Given the description of an element on the screen output the (x, y) to click on. 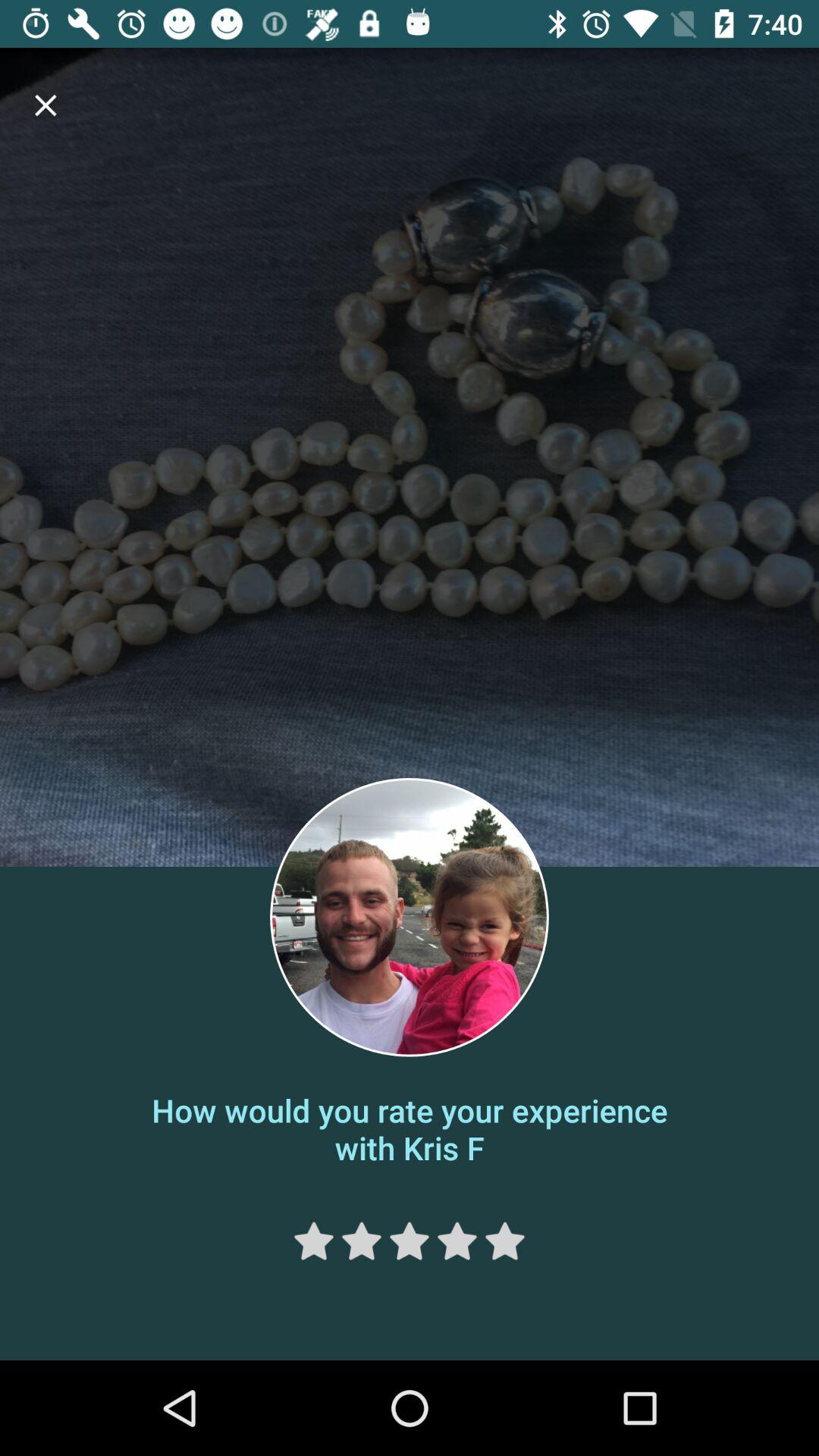
one star (313, 1240)
